Given the description of an element on the screen output the (x, y) to click on. 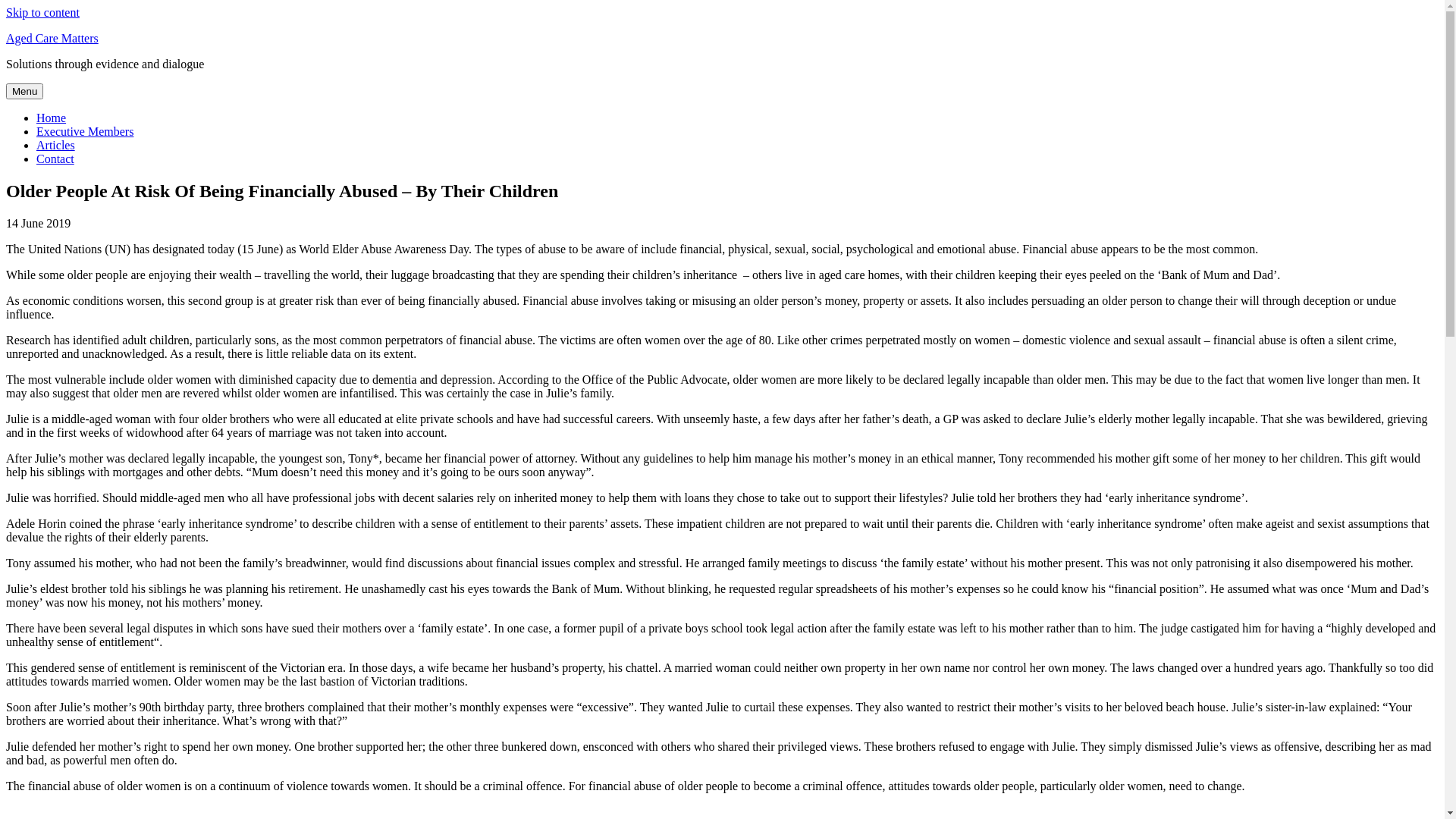
Executive Members Element type: text (84, 131)
Home Element type: text (50, 117)
Aged Care Matters Element type: text (52, 37)
Menu Element type: text (24, 91)
Skip to content Element type: text (42, 12)
Contact Element type: text (55, 158)
Articles Element type: text (55, 144)
